Given the description of an element on the screen output the (x, y) to click on. 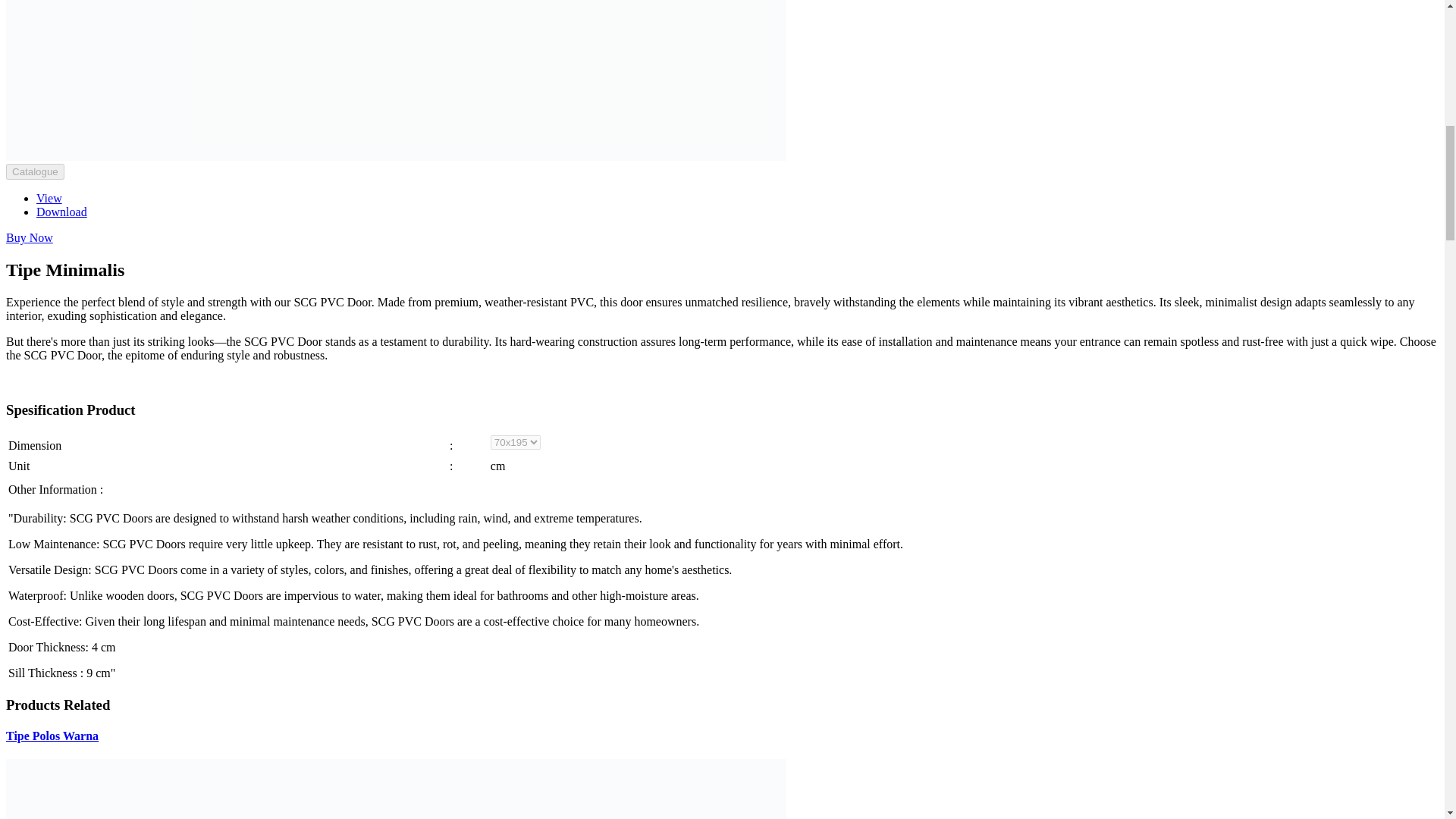
View (49, 197)
Catalogue (34, 171)
Tipe Polos Warna (52, 735)
Buy Now (28, 237)
Download (61, 211)
